Given the description of an element on the screen output the (x, y) to click on. 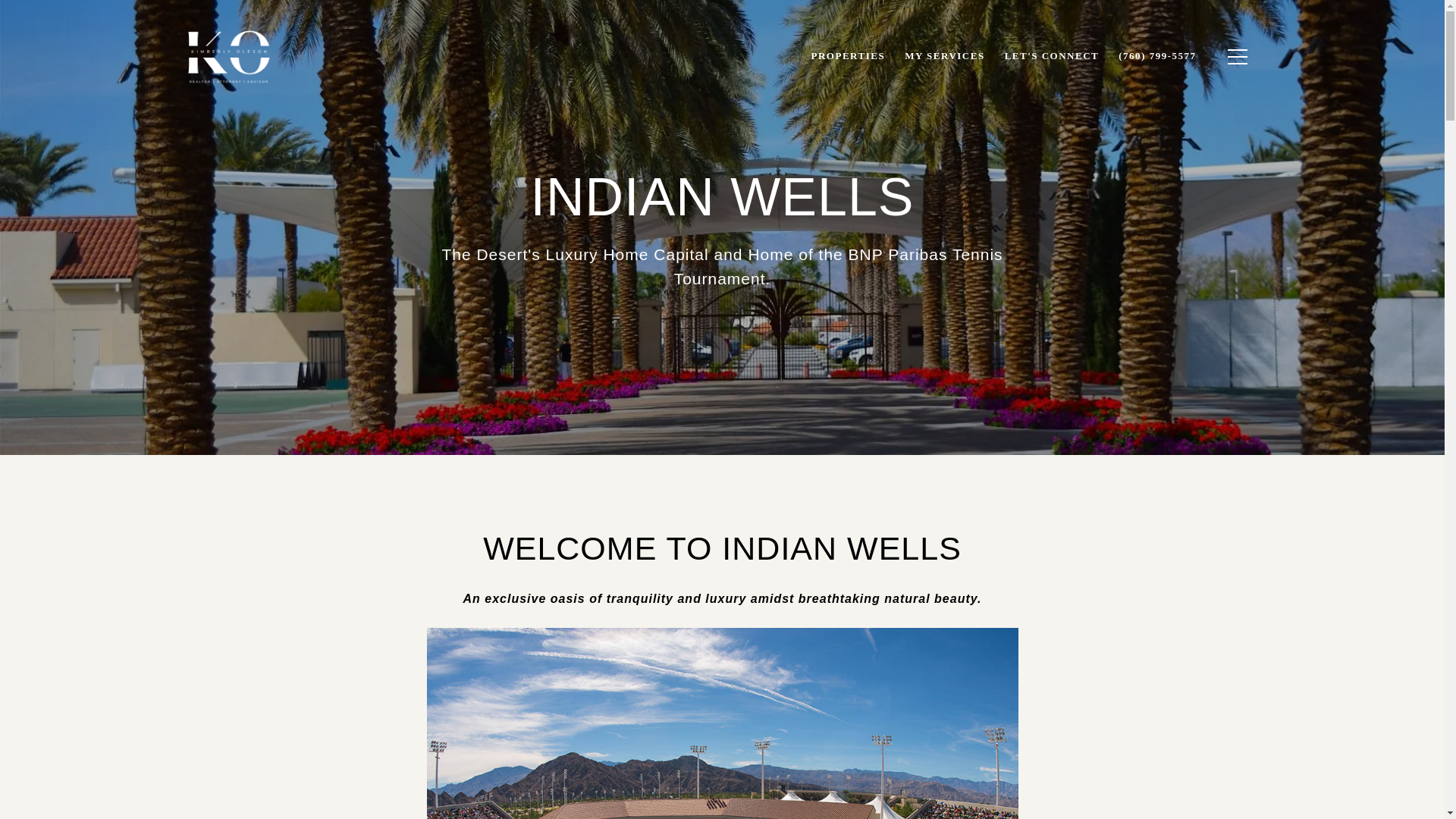
LET'S CONNECT (1051, 55)
MY SERVICES (944, 55)
PROPERTIES (847, 55)
